Given the description of an element on the screen output the (x, y) to click on. 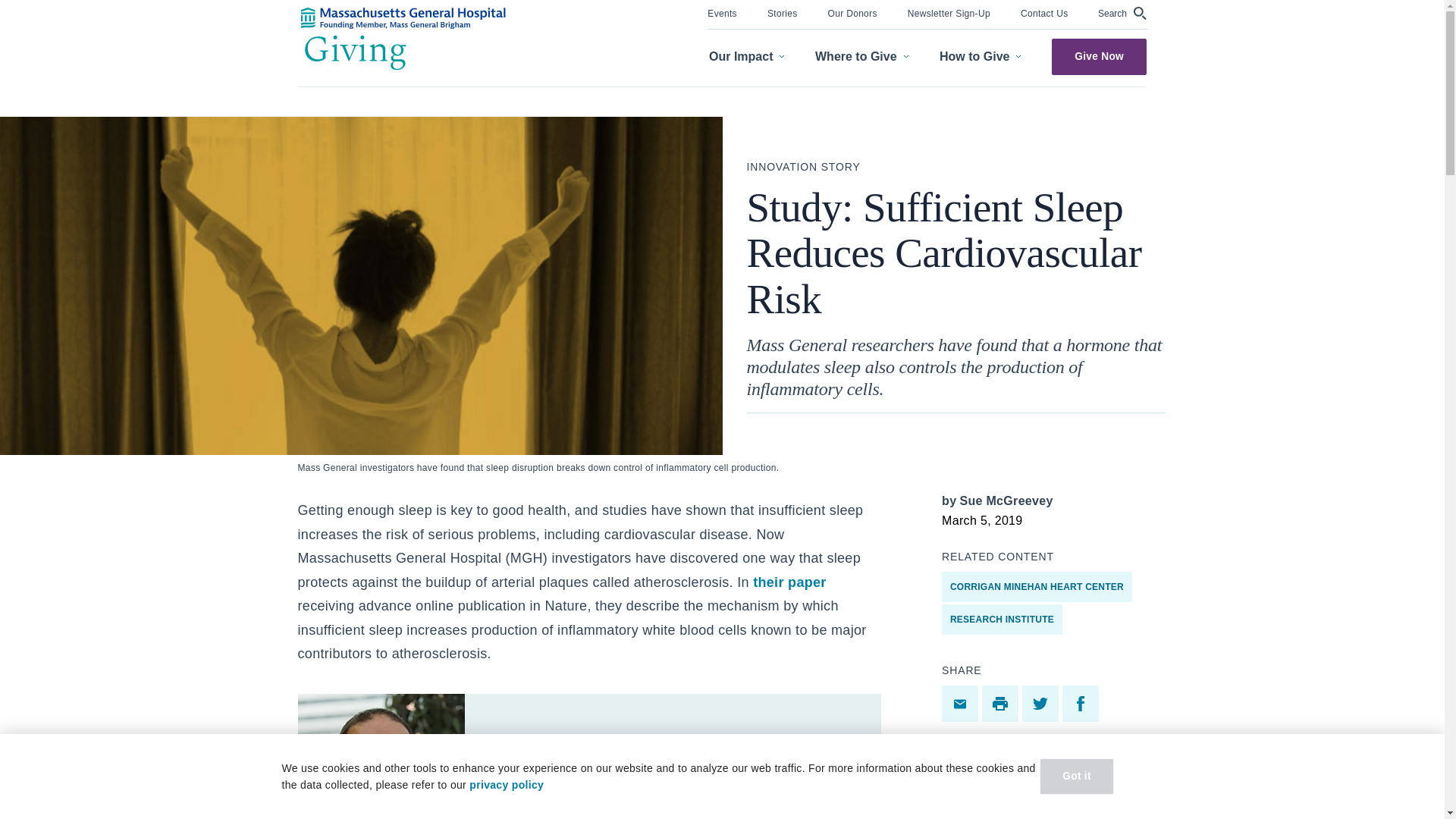
Contact Us (1044, 11)
Newsletter Sign-Up (948, 11)
Where to Give (861, 56)
Our Donors (852, 11)
their paper (789, 581)
Stories (782, 11)
Search (1122, 12)
Give Now (1099, 56)
How to Give (980, 56)
RESEARCH INSTITUTE (1002, 619)
